Given the description of an element on the screen output the (x, y) to click on. 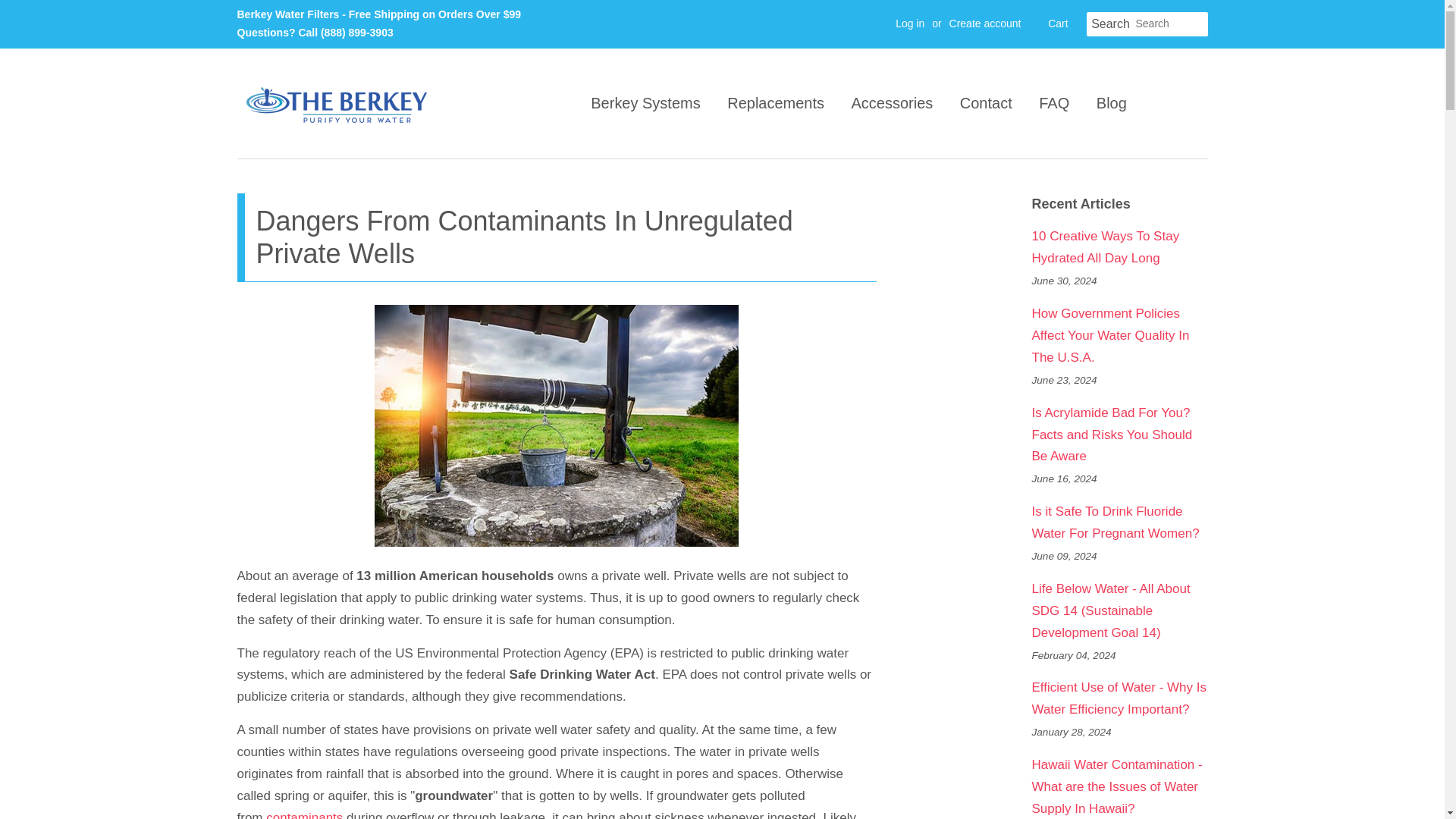
Search (1110, 24)
Replacements (775, 102)
Accessories (892, 102)
contaminants (304, 814)
Create account (985, 23)
FAQ (1053, 102)
Berkey Systems (651, 102)
Cart (1057, 24)
Contact (986, 102)
Log in (909, 23)
